Given the description of an element on the screen output the (x, y) to click on. 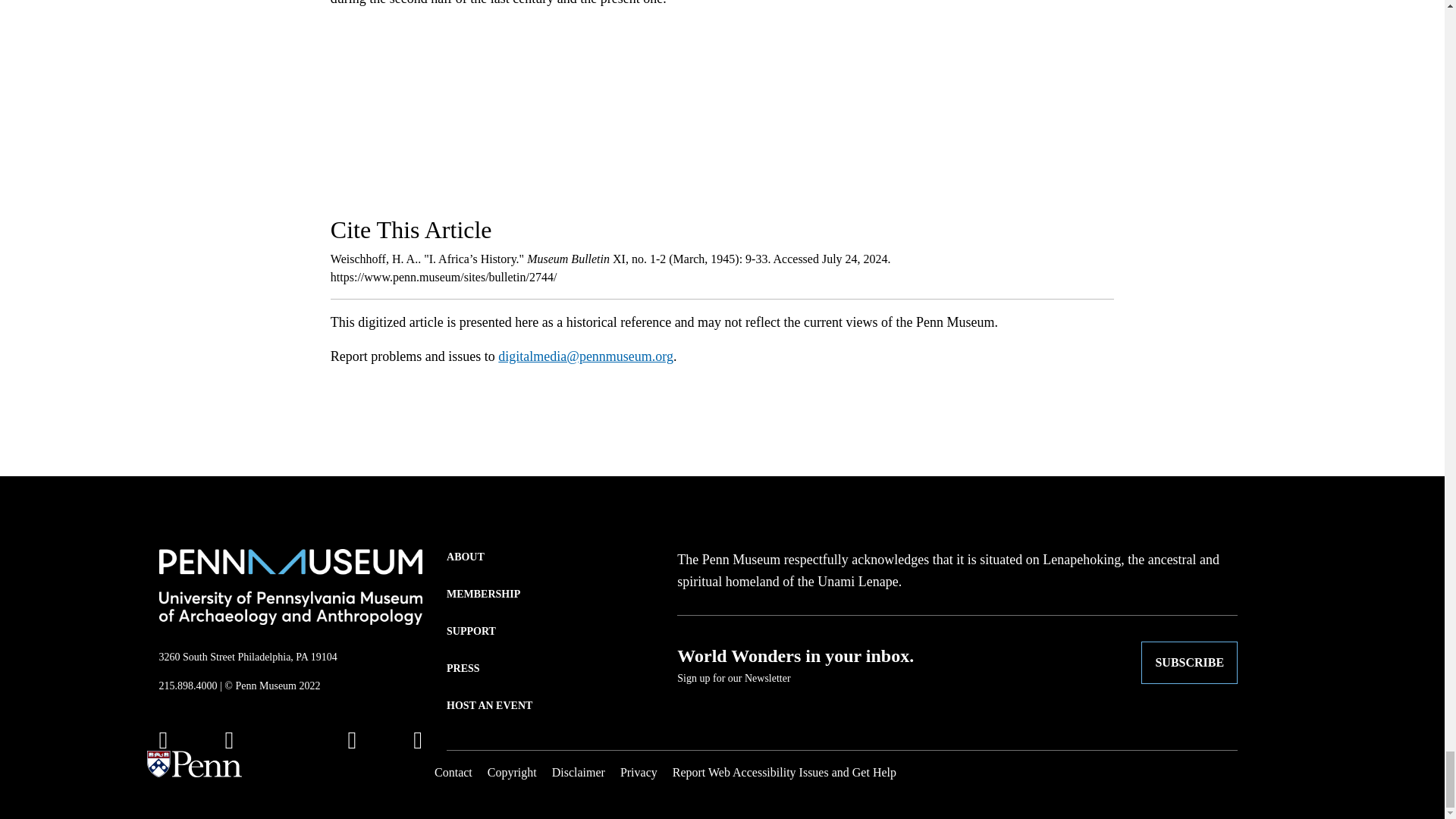
Disclaimer (578, 772)
Copyright (512, 772)
Privacy (639, 772)
Contact (452, 772)
Report Web Accessibility Issues and Get Help (784, 772)
